Given the description of an element on the screen output the (x, y) to click on. 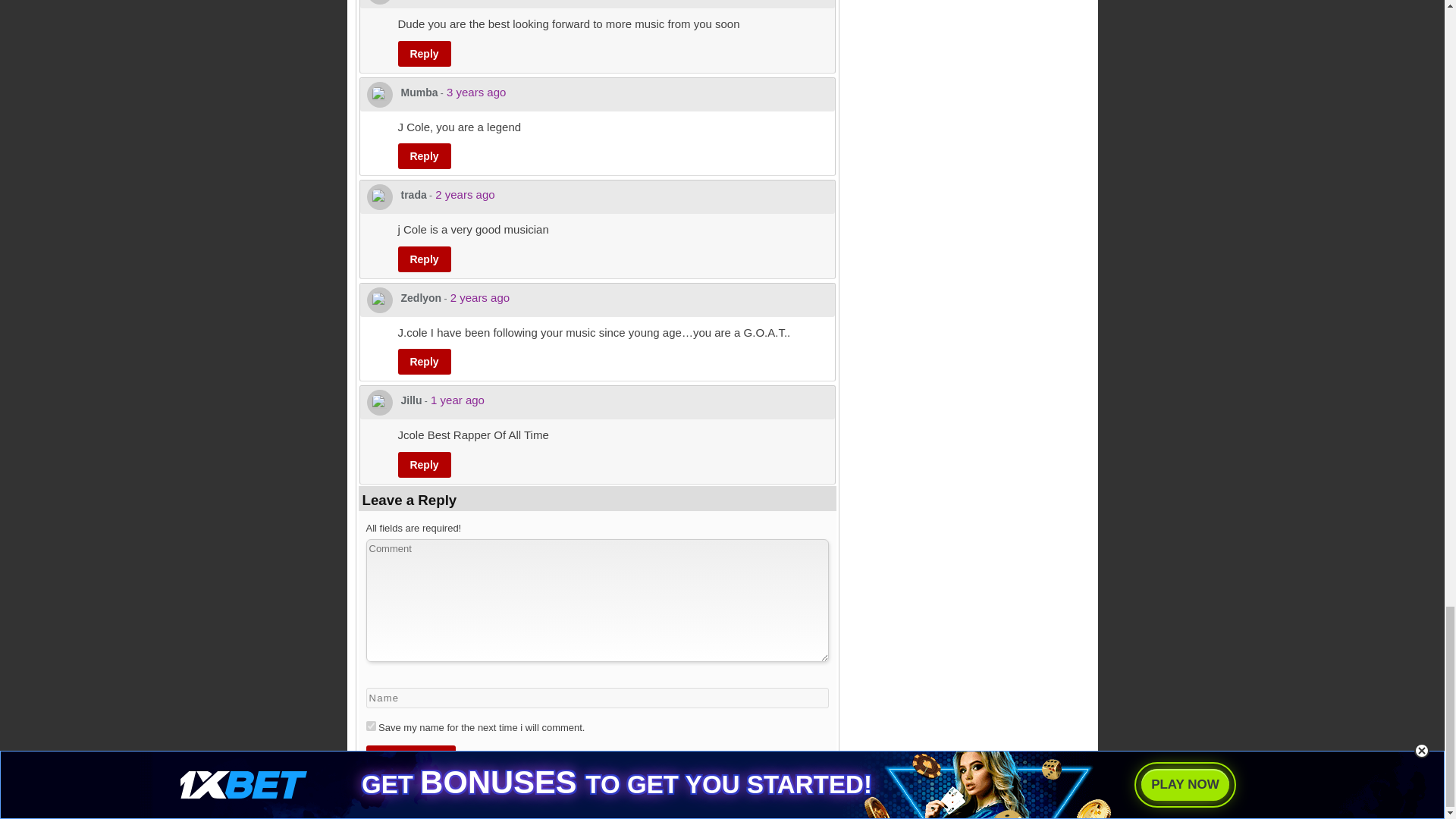
yes (370, 726)
Post Comment (410, 758)
